Given the description of an element on the screen output the (x, y) to click on. 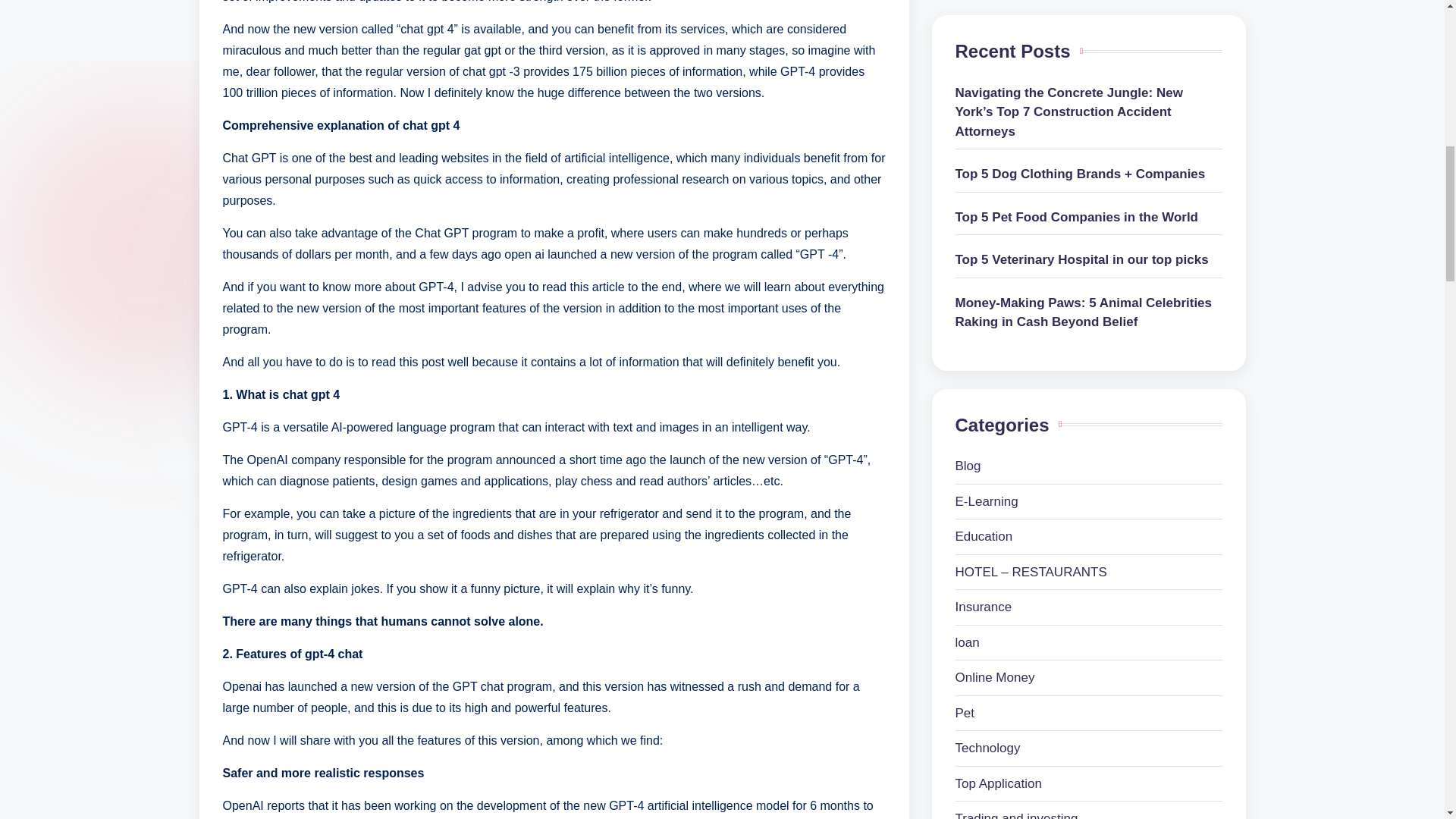
Technology (1089, 48)
Pet (1089, 14)
